Given the description of an element on the screen output the (x, y) to click on. 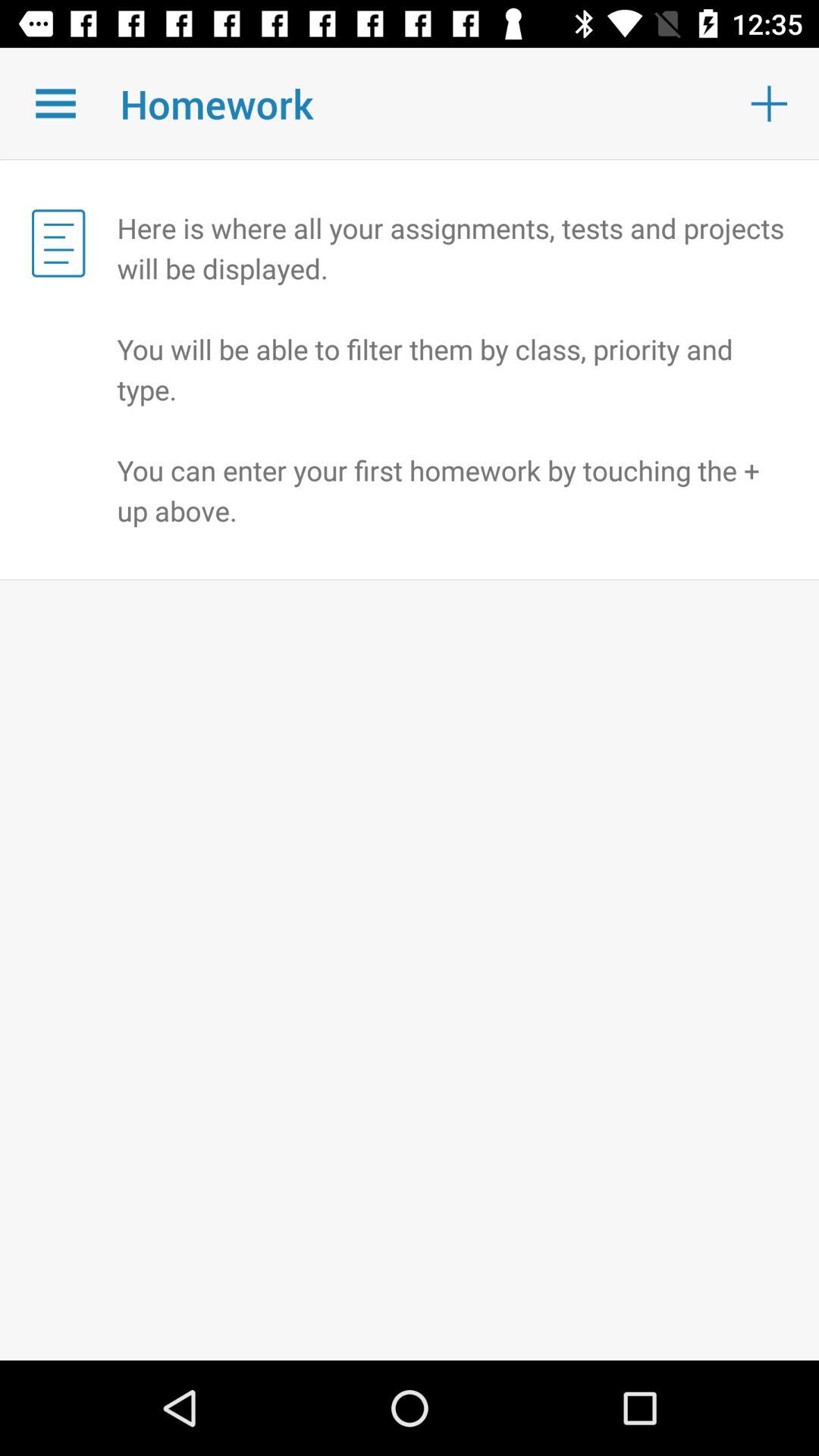
menu (55, 103)
